Given the description of an element on the screen output the (x, y) to click on. 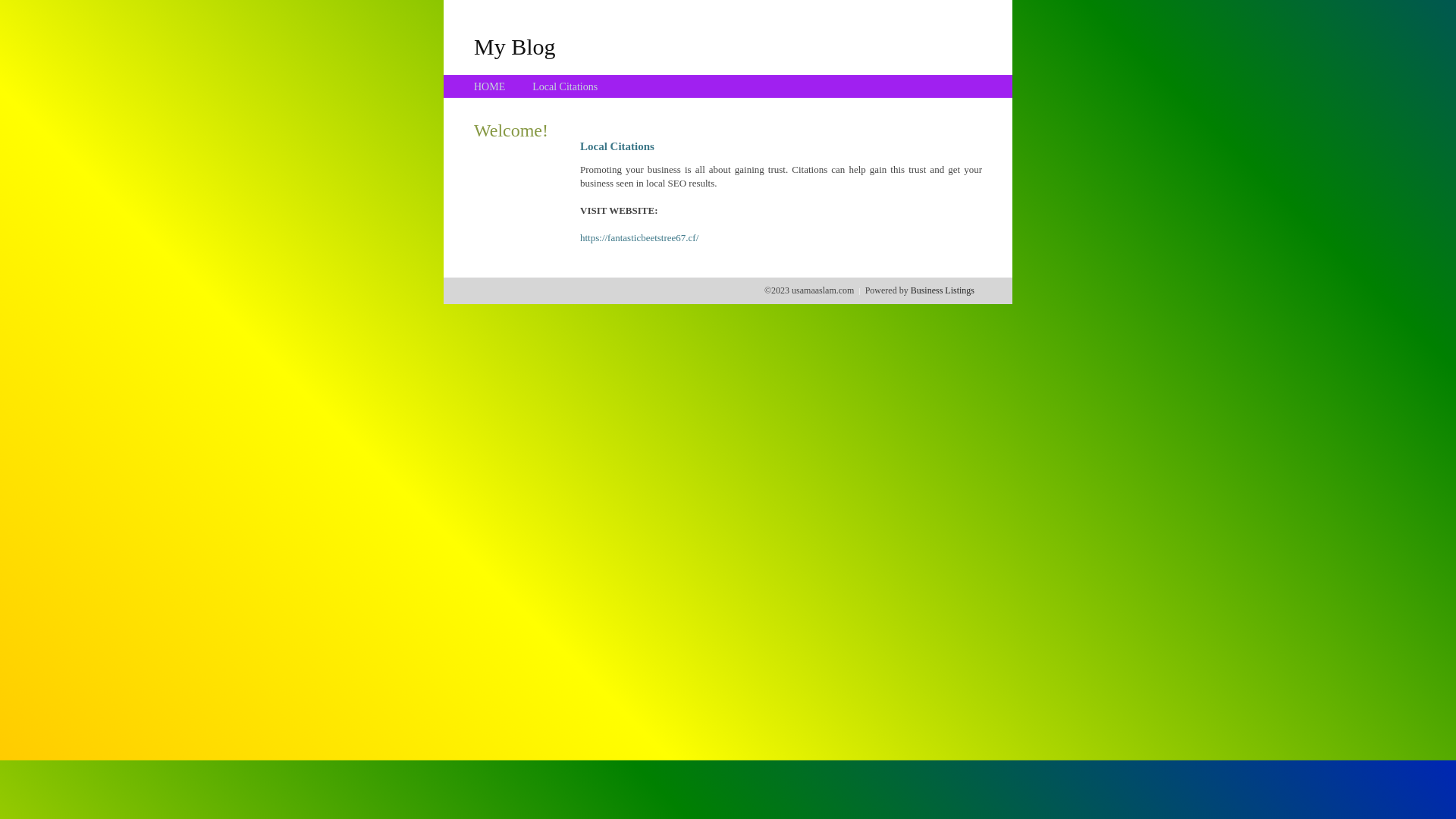
Business Listings Element type: text (942, 290)
Local Citations Element type: text (564, 86)
My Blog Element type: text (514, 46)
HOME Element type: text (489, 86)
https://fantasticbeetstree67.cf/ Element type: text (639, 237)
